Given the description of an element on the screen output the (x, y) to click on. 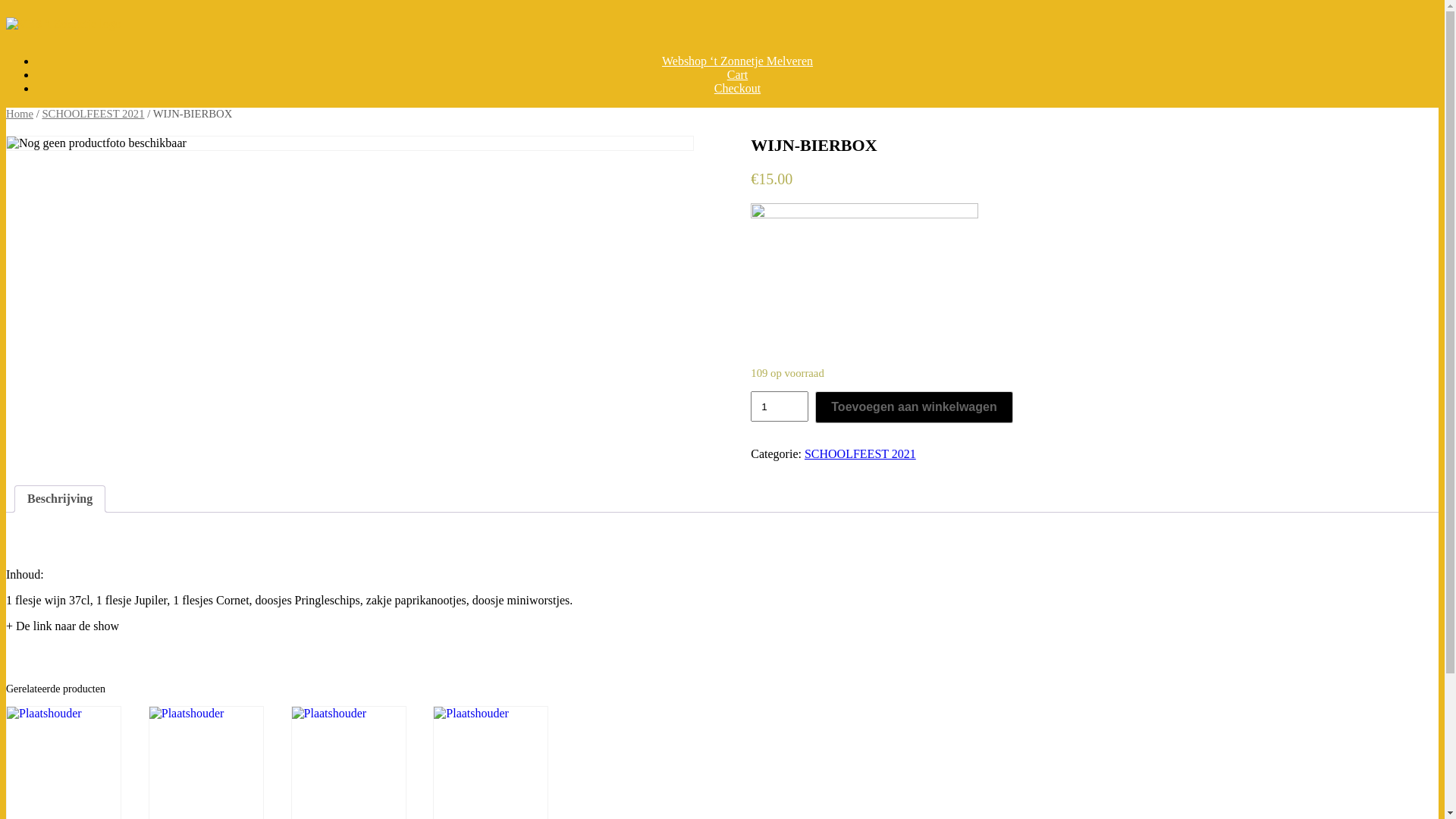
Cart Element type: text (737, 74)
SCHOOLFEEST 2021 Element type: text (860, 453)
VBS 't Zonnetje Element type: hover (63, 23)
Spring naar inhoud Element type: text (5, 5)
Home Element type: text (19, 113)
SCHOOLFEEST 2021 Element type: text (92, 113)
Beschrijving Element type: text (59, 498)
Toevoegen aan winkelwagen Element type: text (913, 407)
Checkout Element type: text (737, 87)
